Given the description of an element on the screen output the (x, y) to click on. 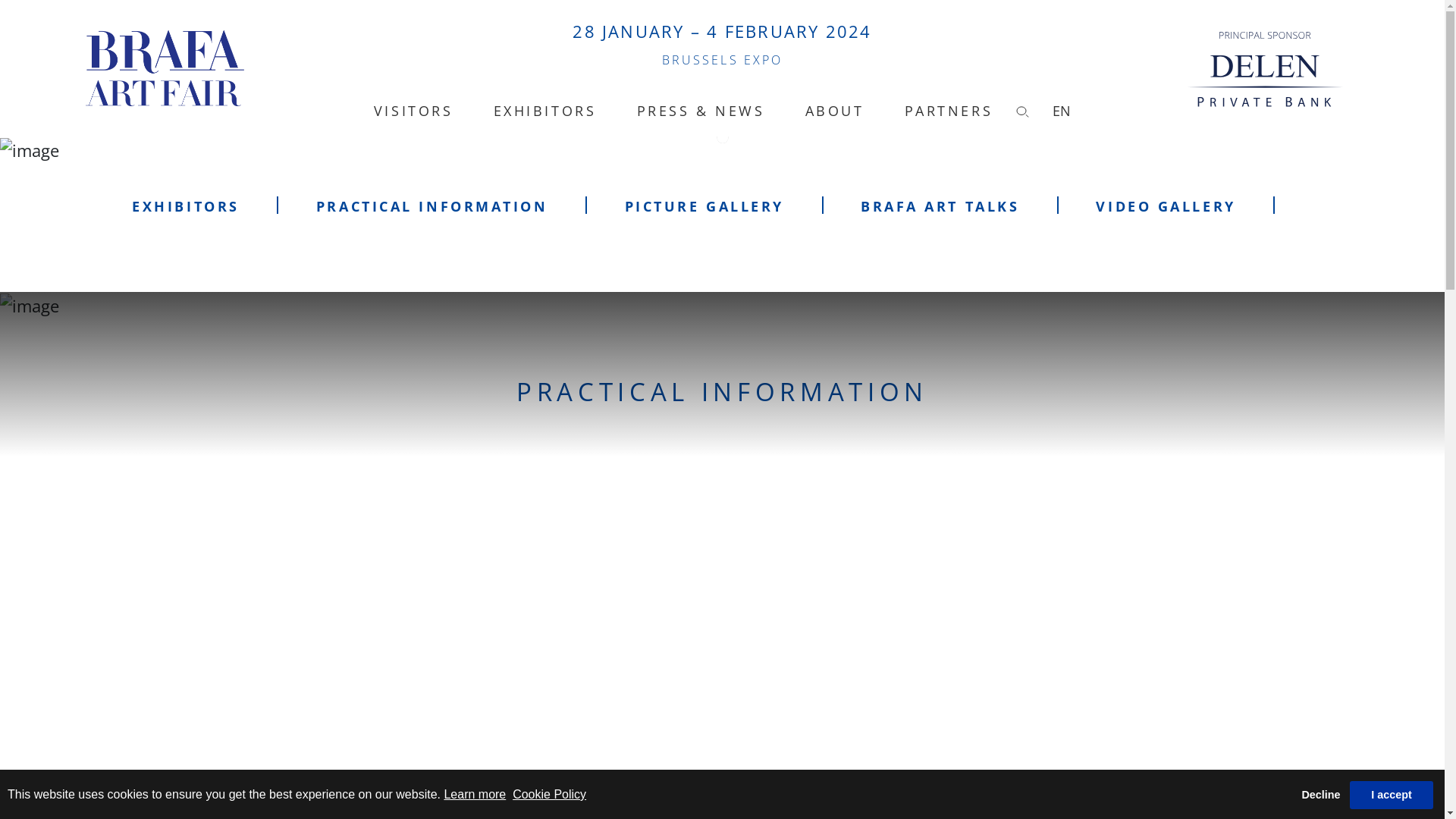
EN Element type: text (1061, 111)
PRESS & NEWS Element type: text (701, 111)
PRACTICAL INFORMATION Element type: text (432, 206)
Decline Element type: text (1320, 795)
EXHIBITORS Element type: text (544, 111)
VISITORS Element type: text (412, 111)
I accept Element type: text (1391, 795)
PICTURE GALLERY Element type: text (704, 206)
0 Element type: text (722, 137)
ABOUT Element type: text (834, 111)
VIDEO GALLERY Element type: text (1165, 206)
Cookie Policy Element type: text (549, 793)
BRAFA ART TALKS Element type: text (939, 206)
PARTNERS Element type: text (948, 111)
Learn more Element type: text (474, 793)
EXHIBITORS Element type: text (185, 206)
